Given the description of an element on the screen output the (x, y) to click on. 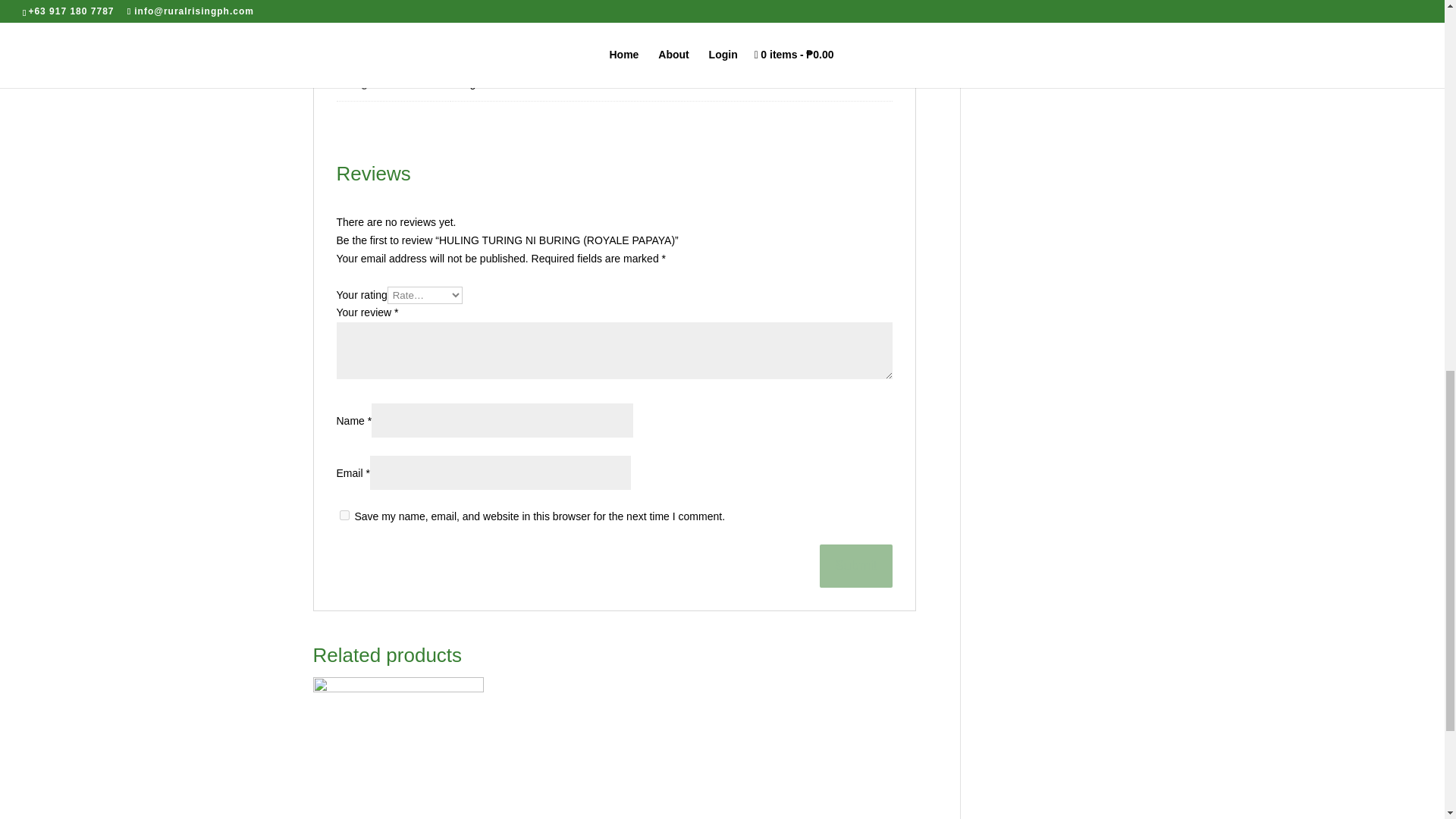
Additional information (385, 7)
Submit (855, 566)
Submit (855, 566)
yes (344, 515)
